Given the description of an element on the screen output the (x, y) to click on. 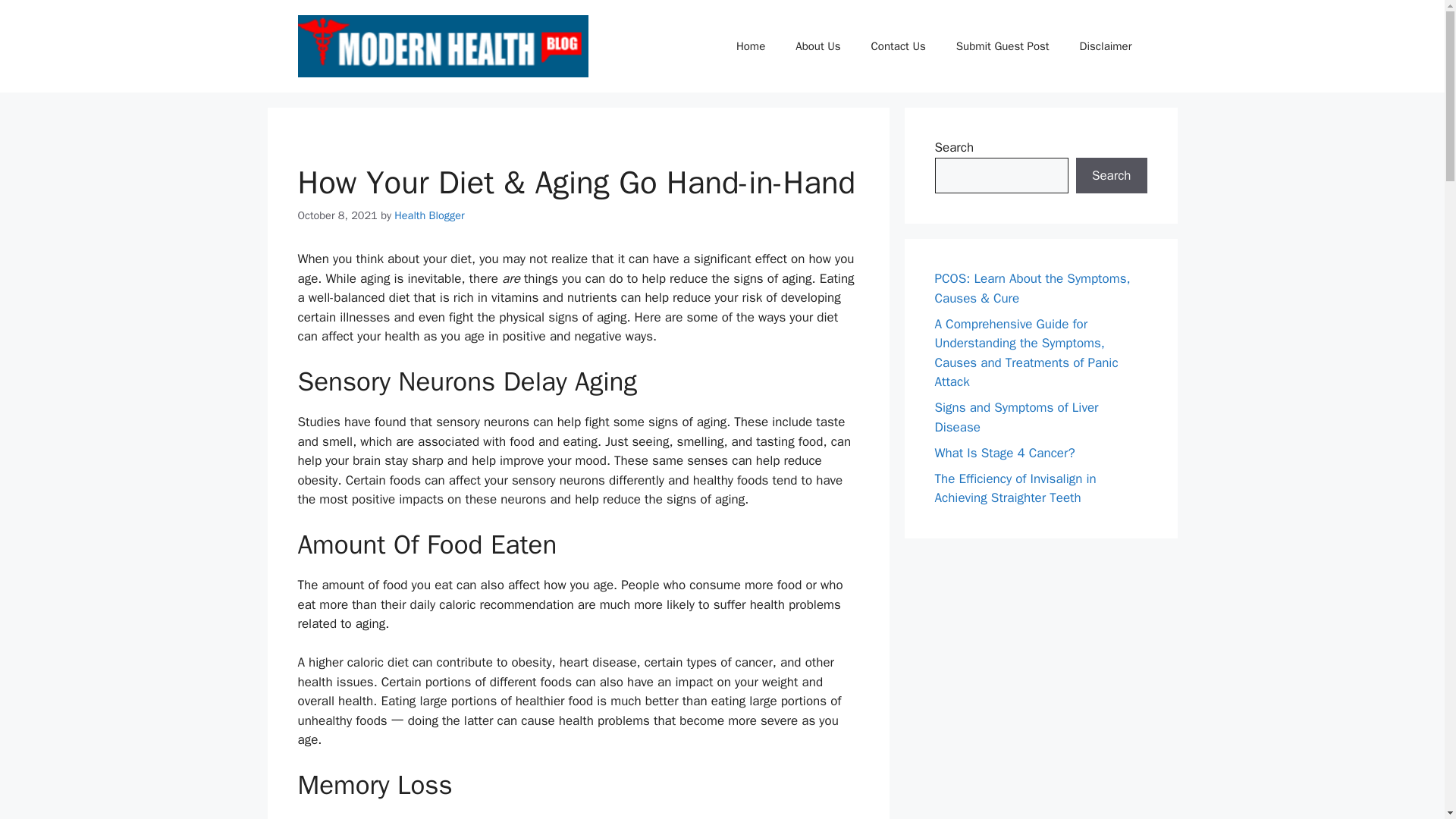
View all posts by Health Blogger (429, 214)
Home (750, 45)
The Efficiency of Invisalign in Achieving Straighter Teeth (1015, 488)
Search (1111, 176)
Submit Guest Post (1002, 45)
Signs and Symptoms of Liver Disease (1015, 416)
About Us (818, 45)
What Is Stage 4 Cancer? (1004, 452)
Disclaimer (1105, 45)
Contact Us (898, 45)
Health Blogger (429, 214)
